Given the description of an element on the screen output the (x, y) to click on. 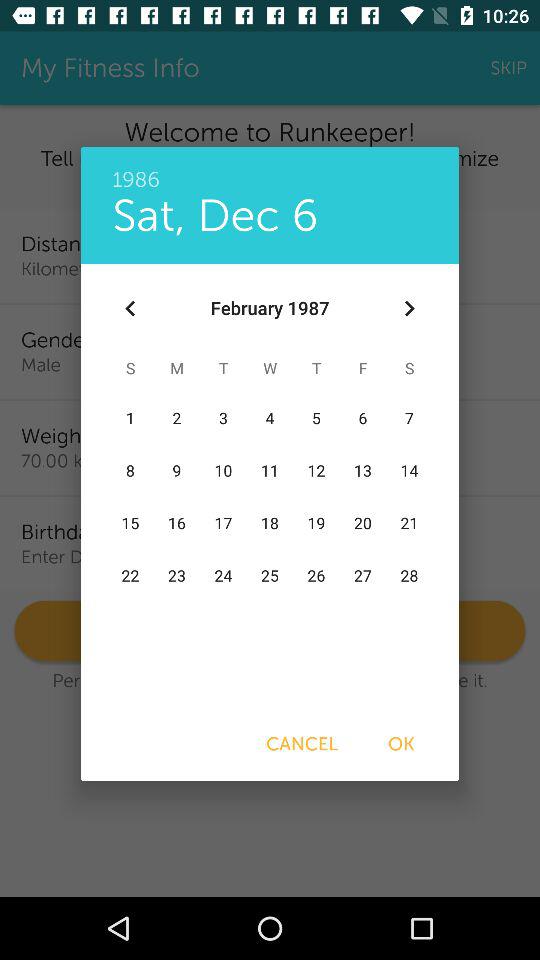
turn on sat, dec 6 (215, 215)
